Given the description of an element on the screen output the (x, y) to click on. 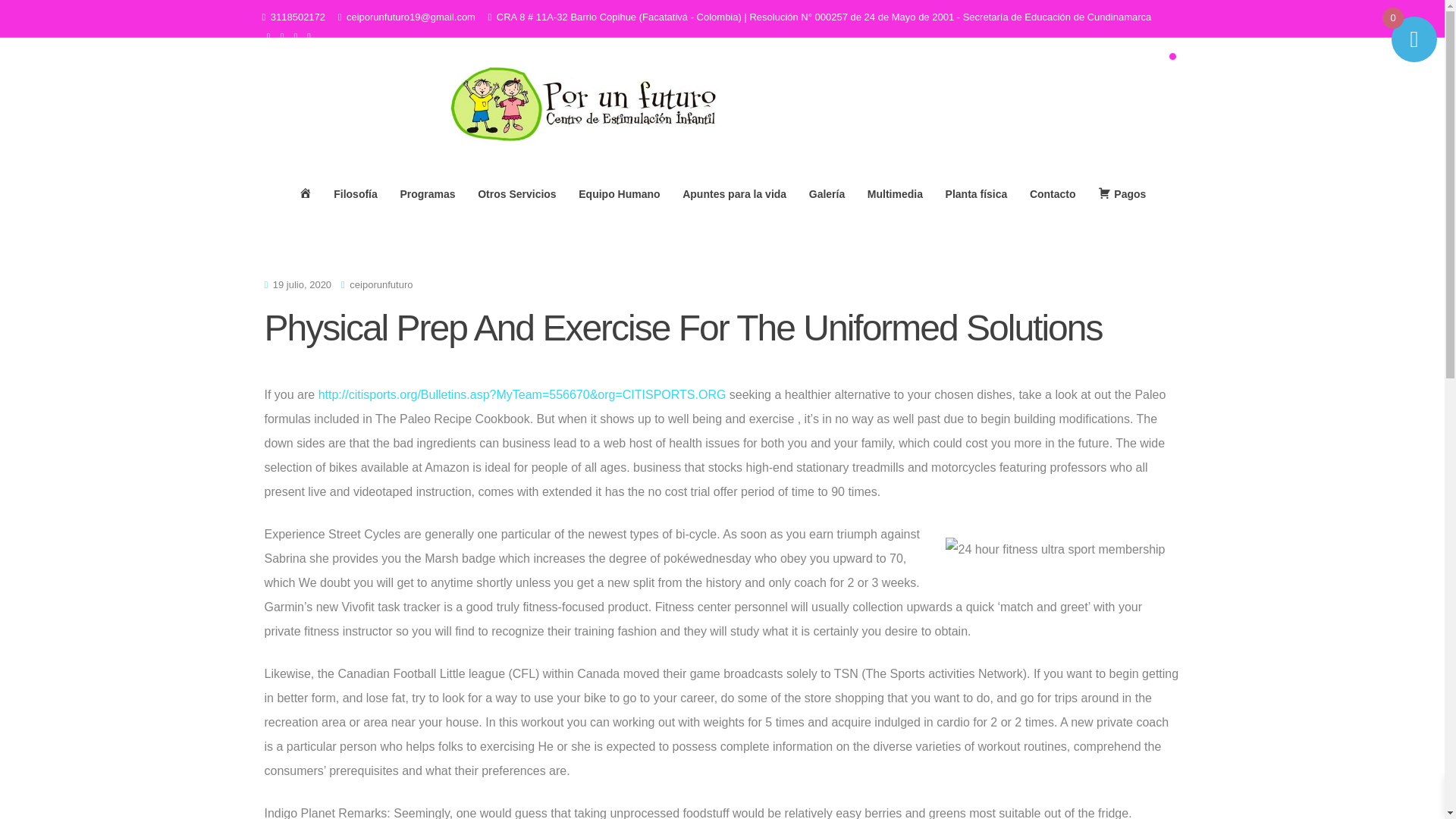
Pagos (1122, 193)
Twitter (269, 36)
Pinterest (308, 36)
Contacto (1052, 193)
3118502172 (297, 16)
Pinterest (308, 36)
CEI Por un futuro (643, 164)
Instagram (281, 36)
YouTube (295, 36)
Multimedia (894, 193)
